Given the description of an element on the screen output the (x, y) to click on. 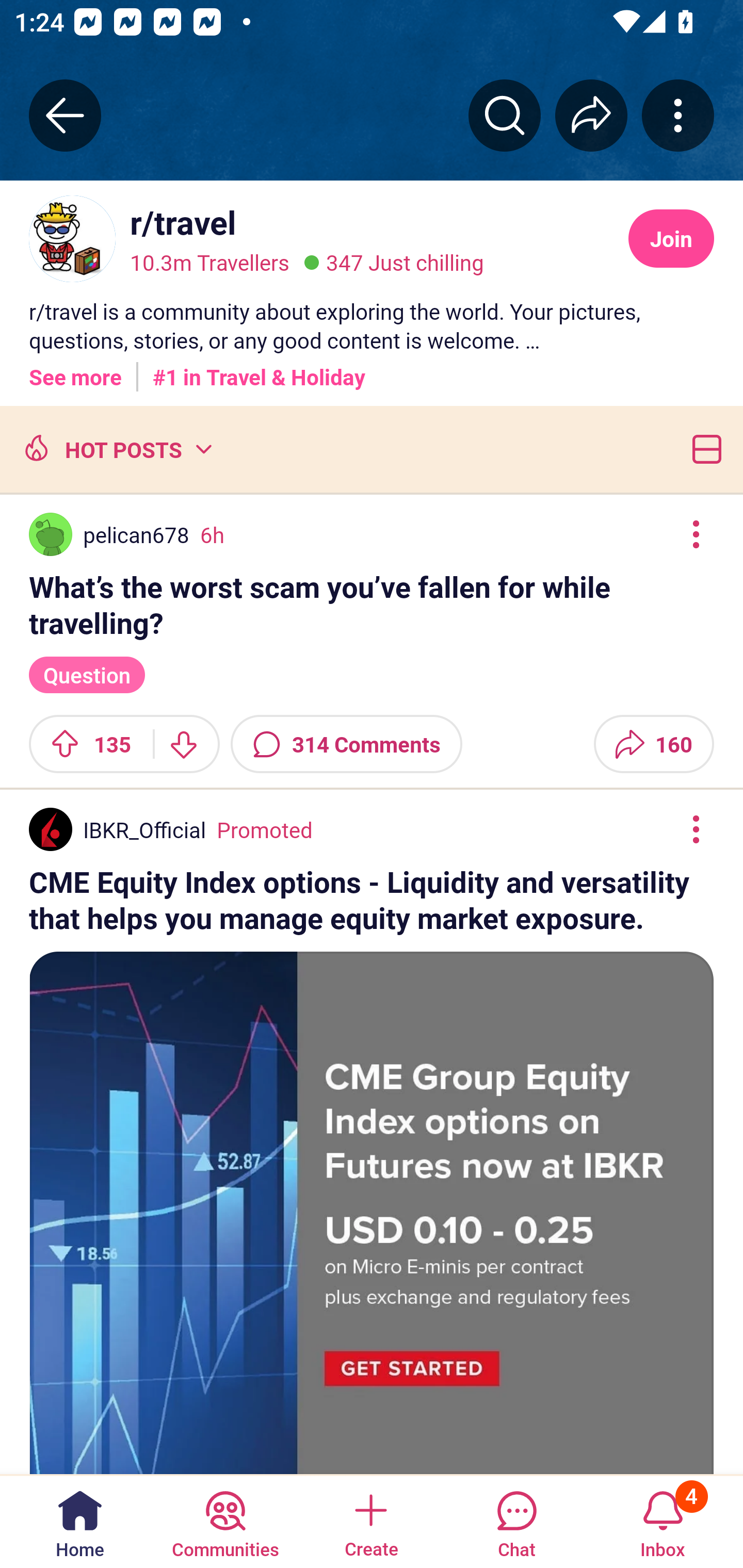
Back (64, 115)
Search r/﻿travel (504, 115)
Share r/﻿travel (591, 115)
More community actions (677, 115)
Hot posts HOT POSTS (116, 449)
Card (703, 449)
Question (86, 673)
Home (80, 1520)
Communities (225, 1520)
Create a post Create (370, 1520)
Chat (516, 1520)
Inbox, has 4 notifications 4 Inbox (662, 1520)
